Given the description of an element on the screen output the (x, y) to click on. 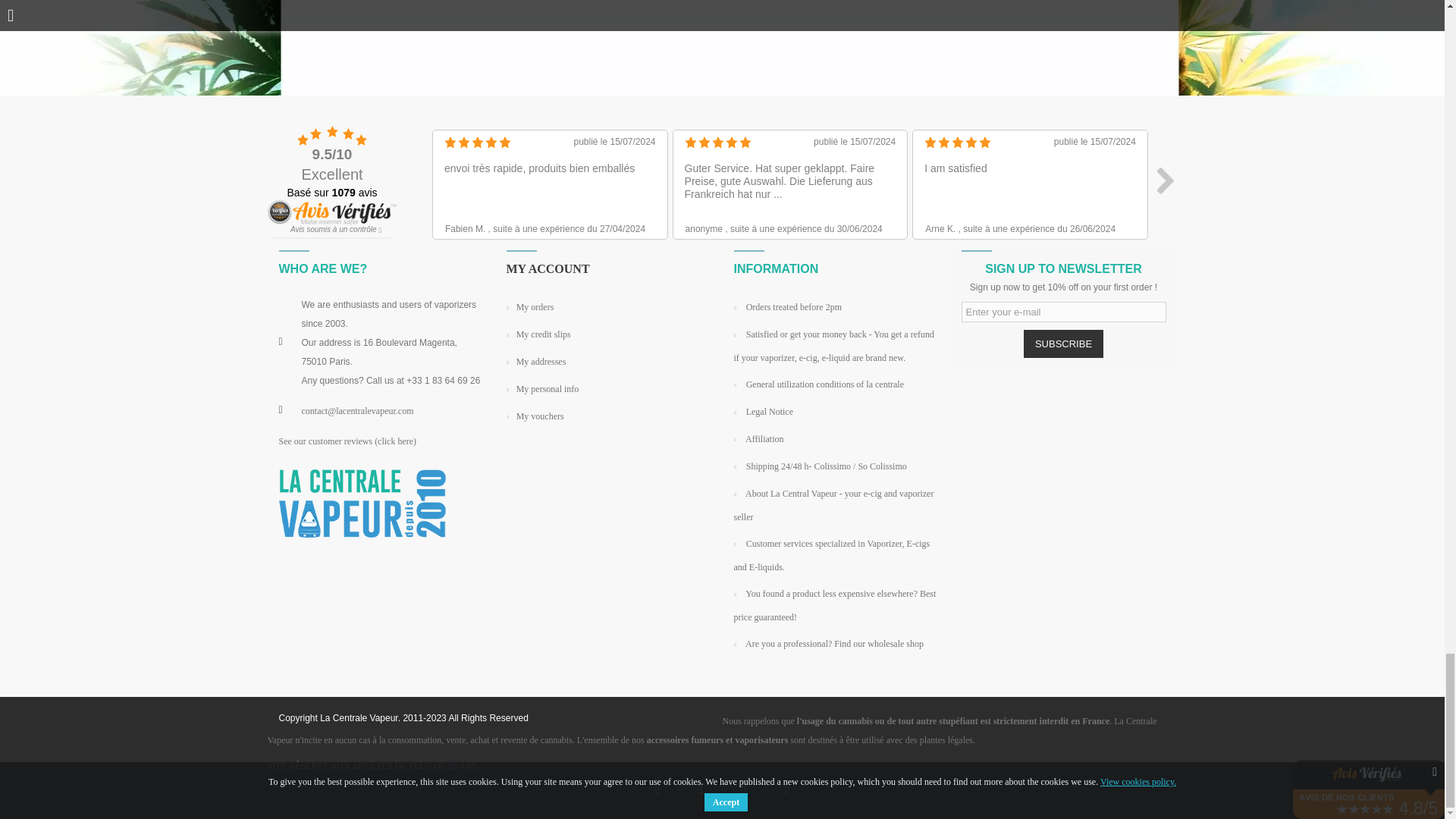
Enter your e-mail (1063, 312)
